Given the description of an element on the screen output the (x, y) to click on. 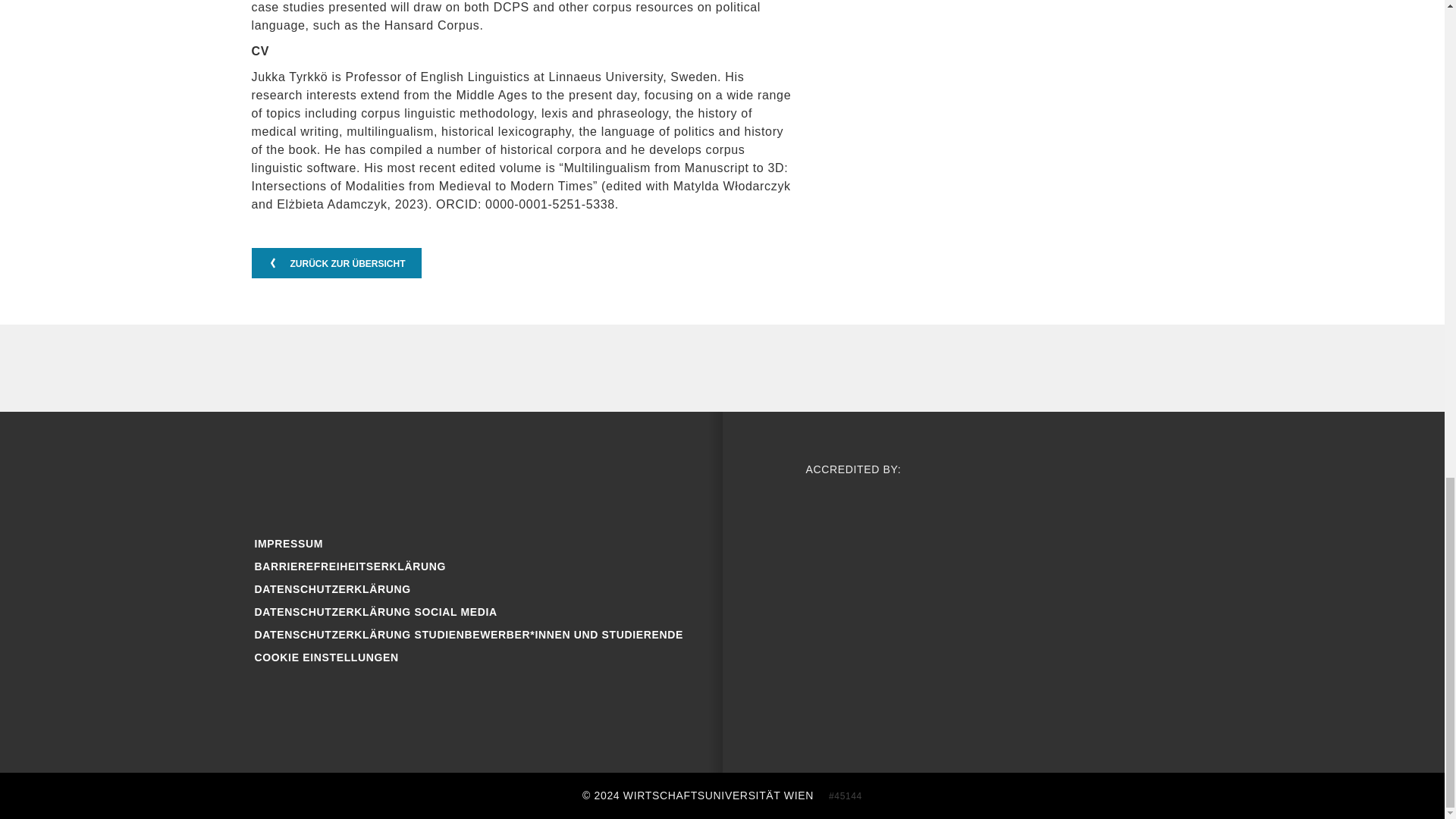
Newsletter (572, 476)
Facebook (276, 476)
X (473, 476)
LinkedIn (521, 476)
Instagram (324, 476)
Blog (374, 476)
YouTube (423, 476)
